Given the description of an element on the screen output the (x, y) to click on. 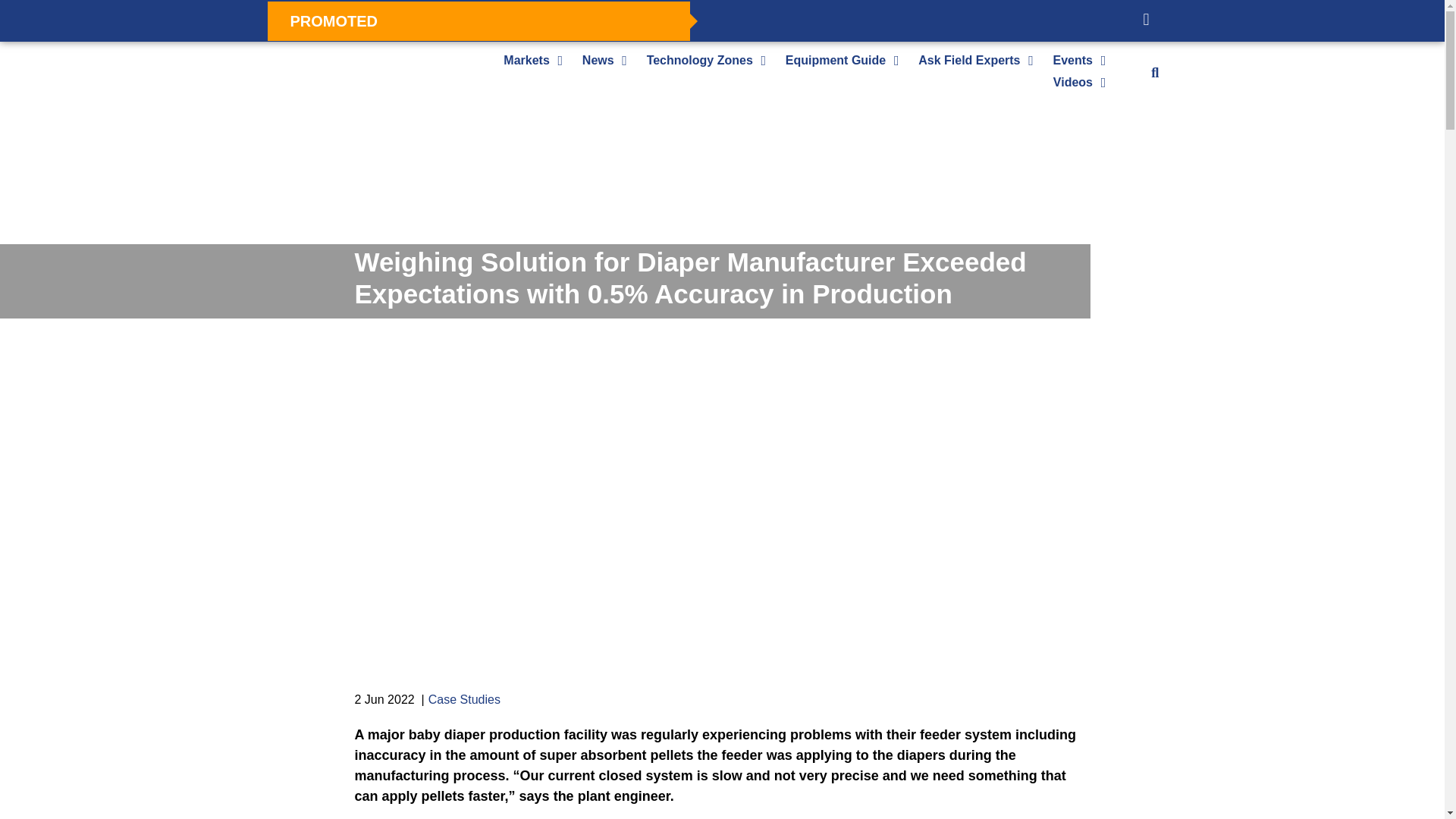
News (598, 60)
Markets (525, 60)
Tailor Made Process Technology, Since 1990 (468, 237)
